Given the description of an element on the screen output the (x, y) to click on. 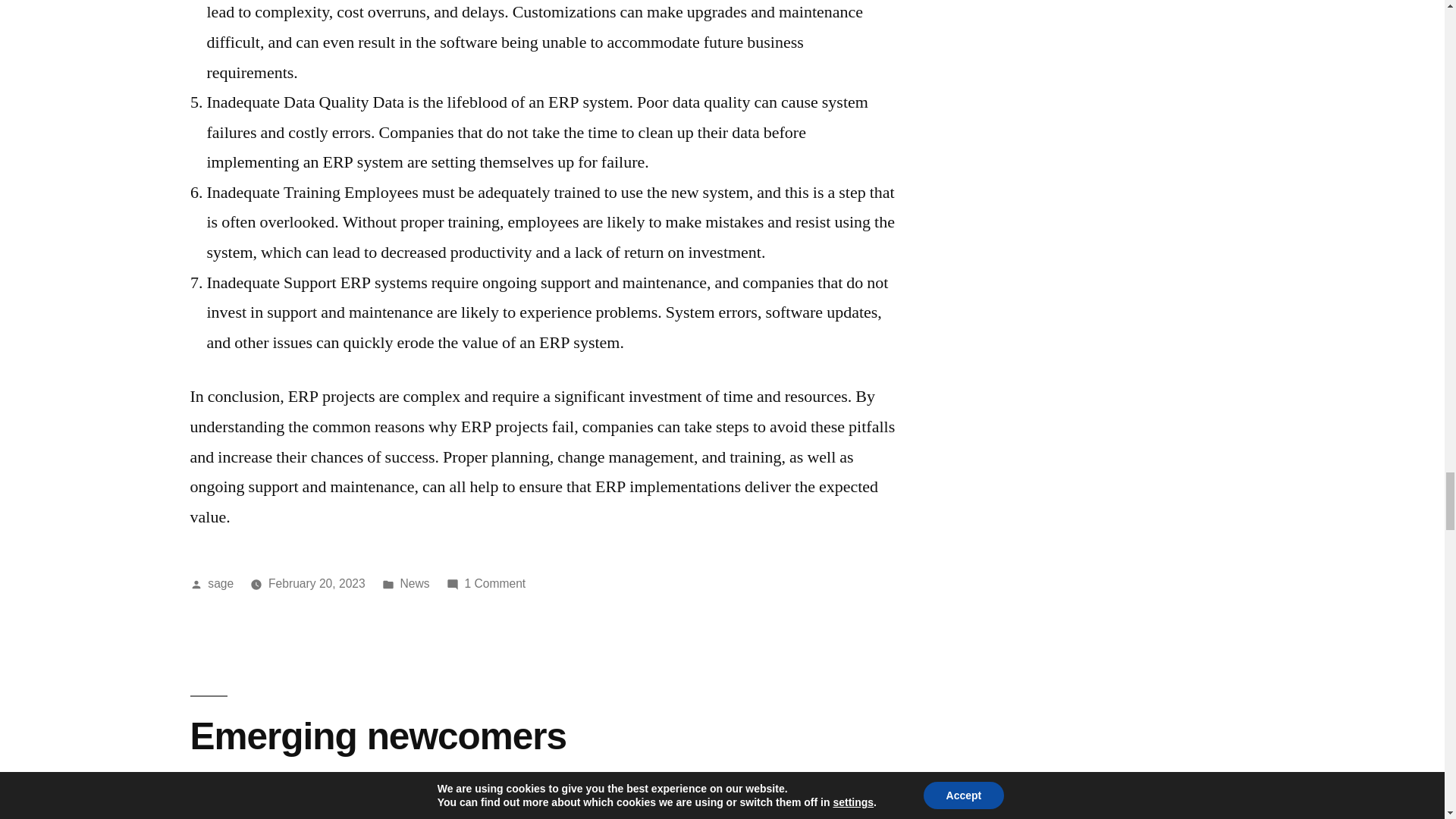
Emerging newcomers (377, 735)
News (414, 583)
February 20, 2023 (316, 583)
sage (220, 583)
